Given the description of an element on the screen output the (x, y) to click on. 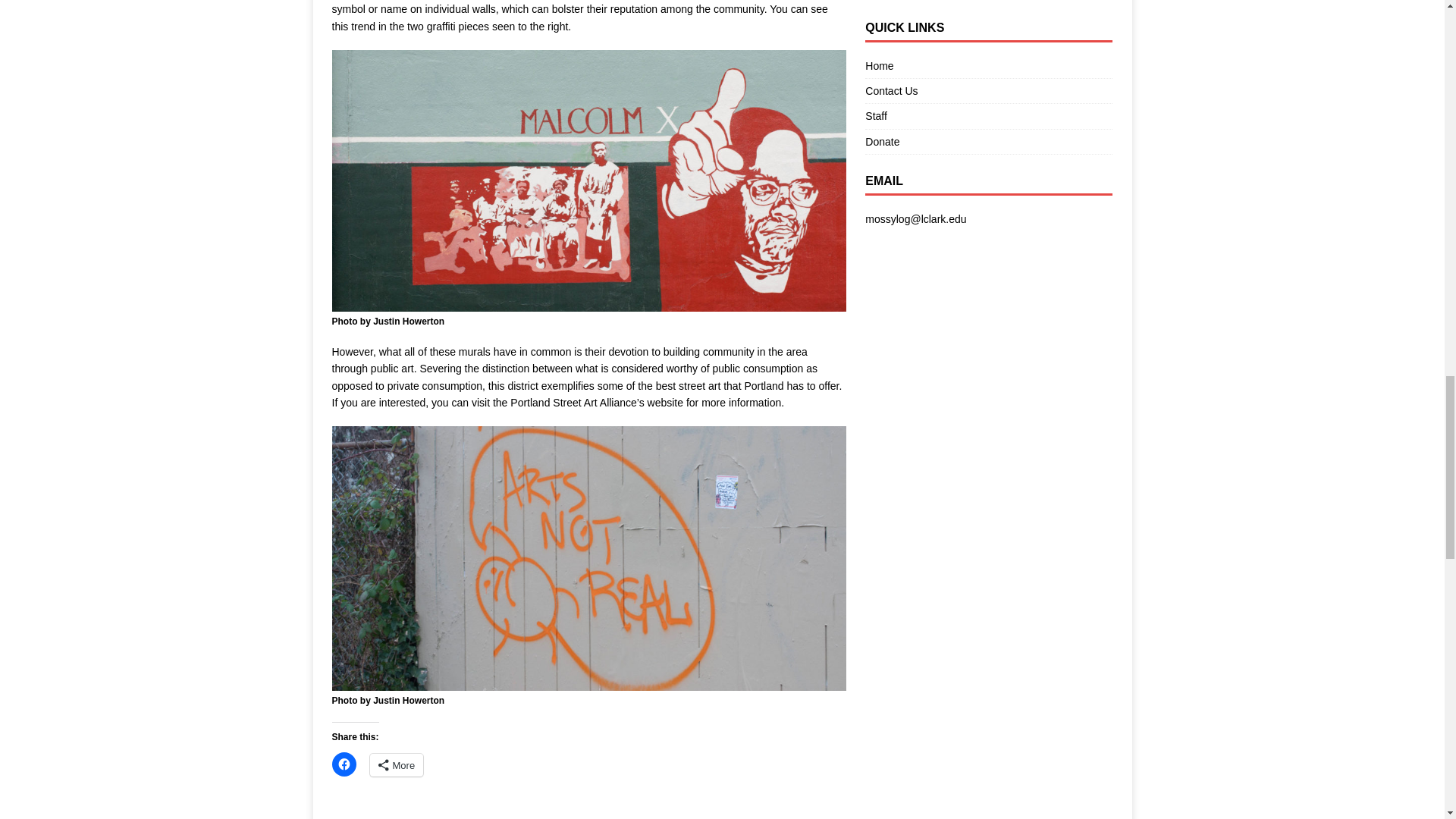
More (396, 764)
Click to share on Facebook (343, 764)
